Given the description of an element on the screen output the (x, y) to click on. 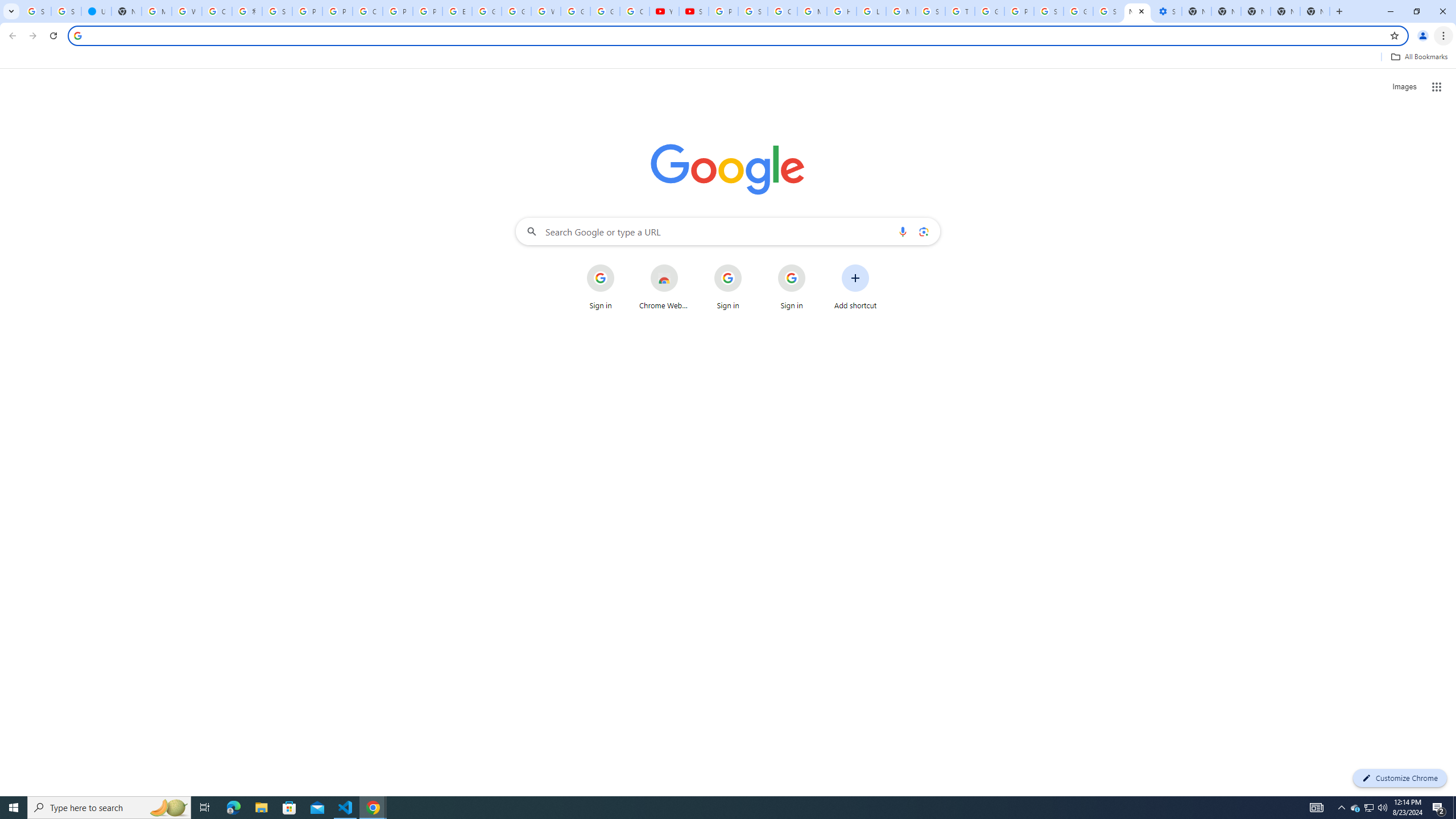
Subscriptions - YouTube (693, 11)
More actions for Sign in shortcut (814, 265)
Sign in - Google Accounts (1107, 11)
Google Cybersecurity Innovations - Google Safety Center (1077, 11)
YouTube (664, 11)
